Given the description of an element on the screen output the (x, y) to click on. 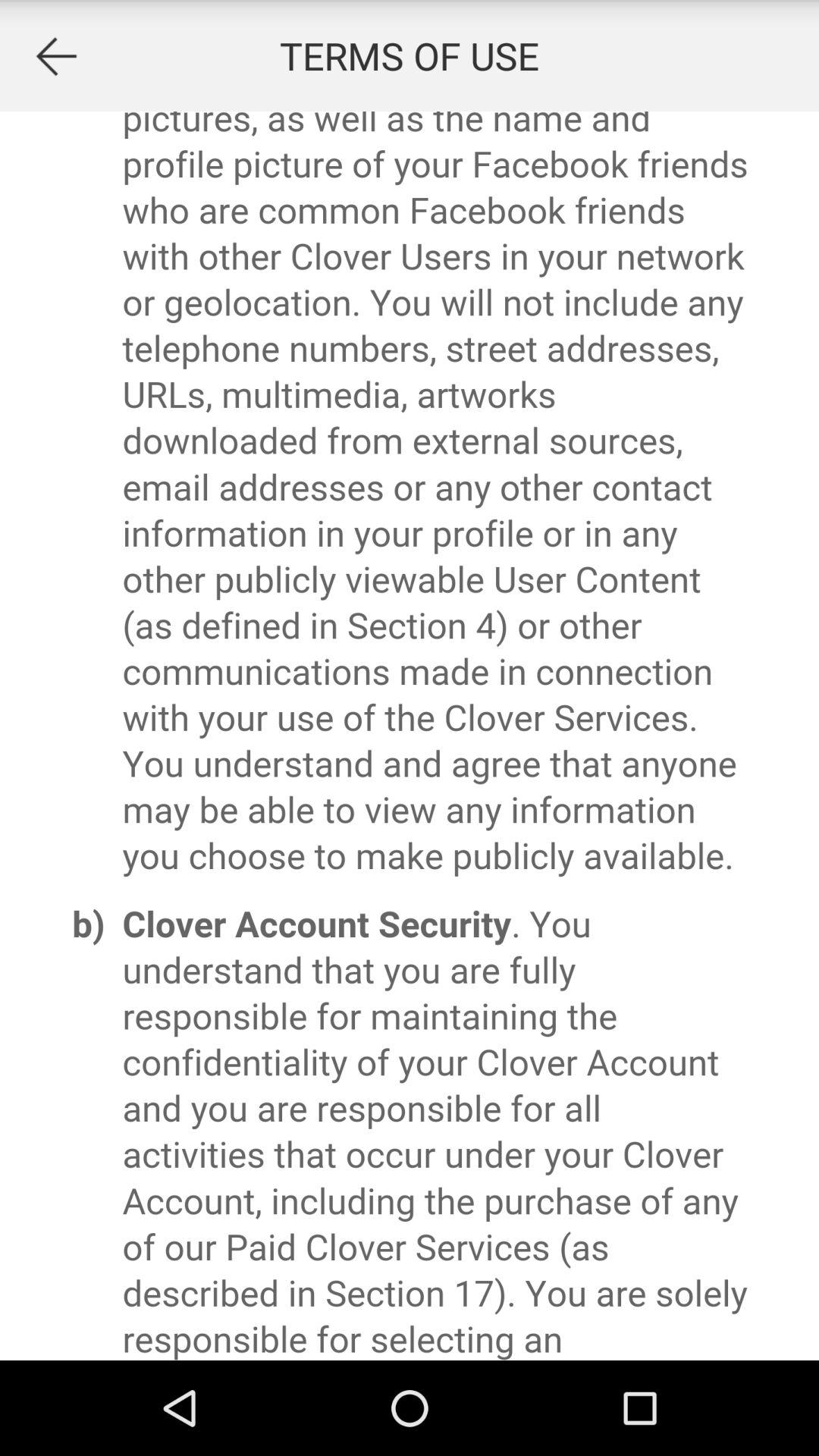
go to advertisement (409, 735)
